Given the description of an element on the screen output the (x, y) to click on. 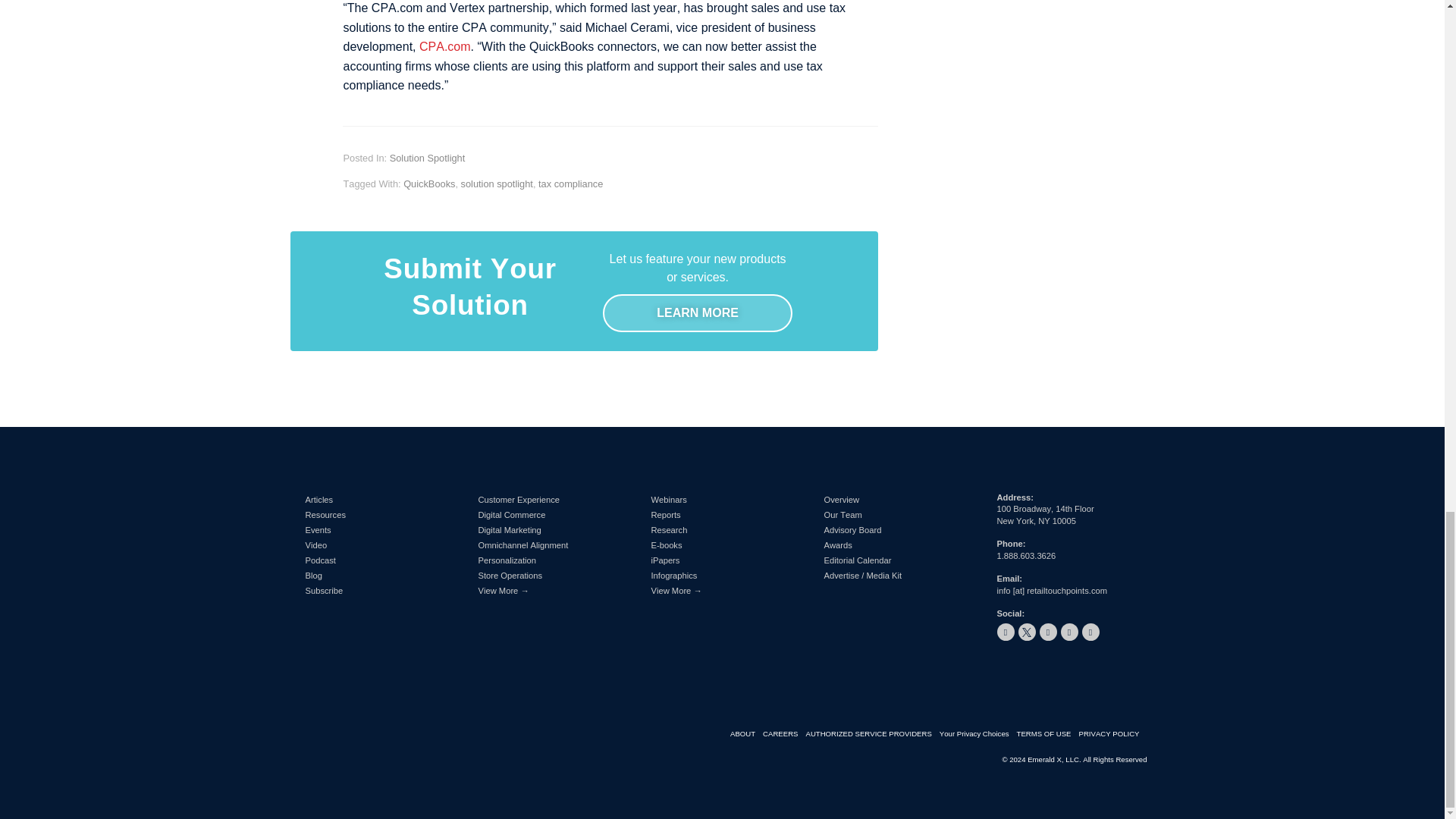
careers (783, 733)
authorized-service-providers (872, 733)
privacy-policy (1112, 733)
terms-of-use (1047, 733)
about (746, 733)
your-privacy-choices (977, 733)
